Given the description of an element on the screen output the (x, y) to click on. 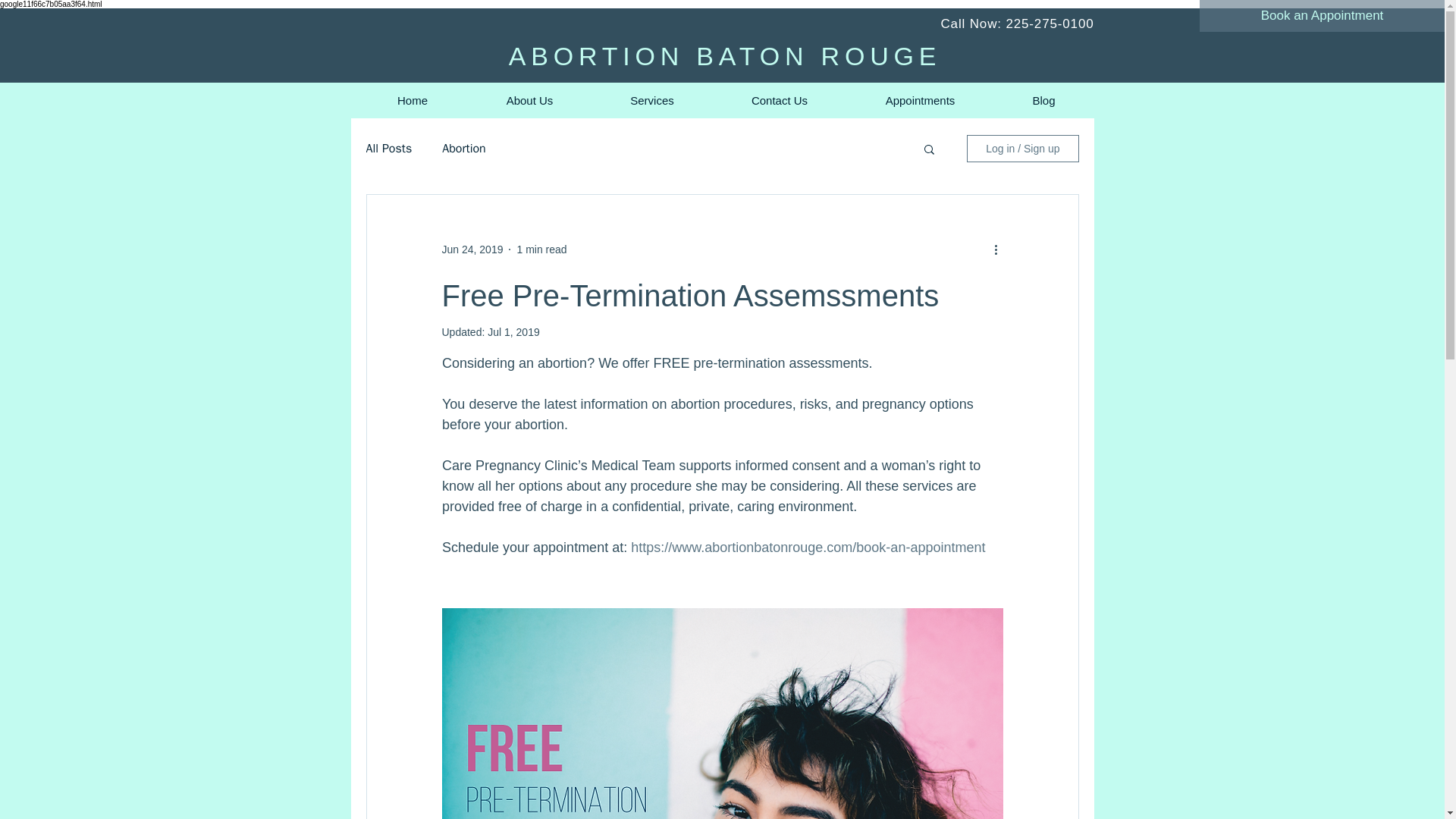
Abortion (464, 148)
Services (651, 100)
All Posts (388, 148)
Jun 24, 2019 (471, 248)
1 min read (541, 248)
Contact Us (780, 100)
Call Now: 225-275-0100 (1016, 23)
Jul 1, 2019 (513, 331)
ABORTION BATON ROUGE (725, 55)
About Us (529, 100)
